Given the description of an element on the screen output the (x, y) to click on. 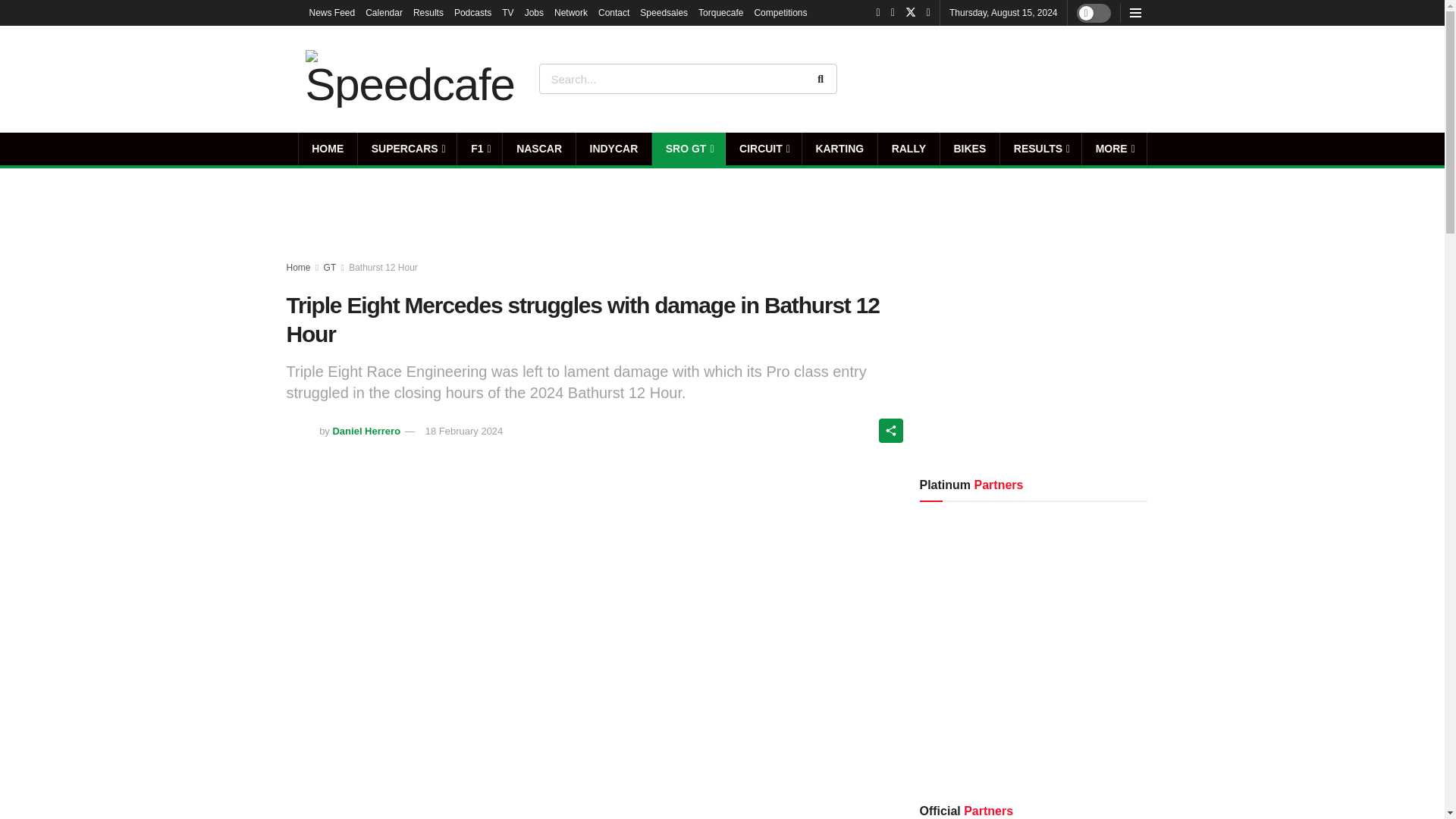
Network (571, 12)
Contact (613, 12)
SUPERCARS (407, 148)
Torquecafe (720, 12)
Calendar (384, 12)
Truck Assist (1097, 78)
Speedsales (663, 12)
HOME (327, 148)
Competitions (780, 12)
Podcasts (473, 12)
